Given the description of an element on the screen output the (x, y) to click on. 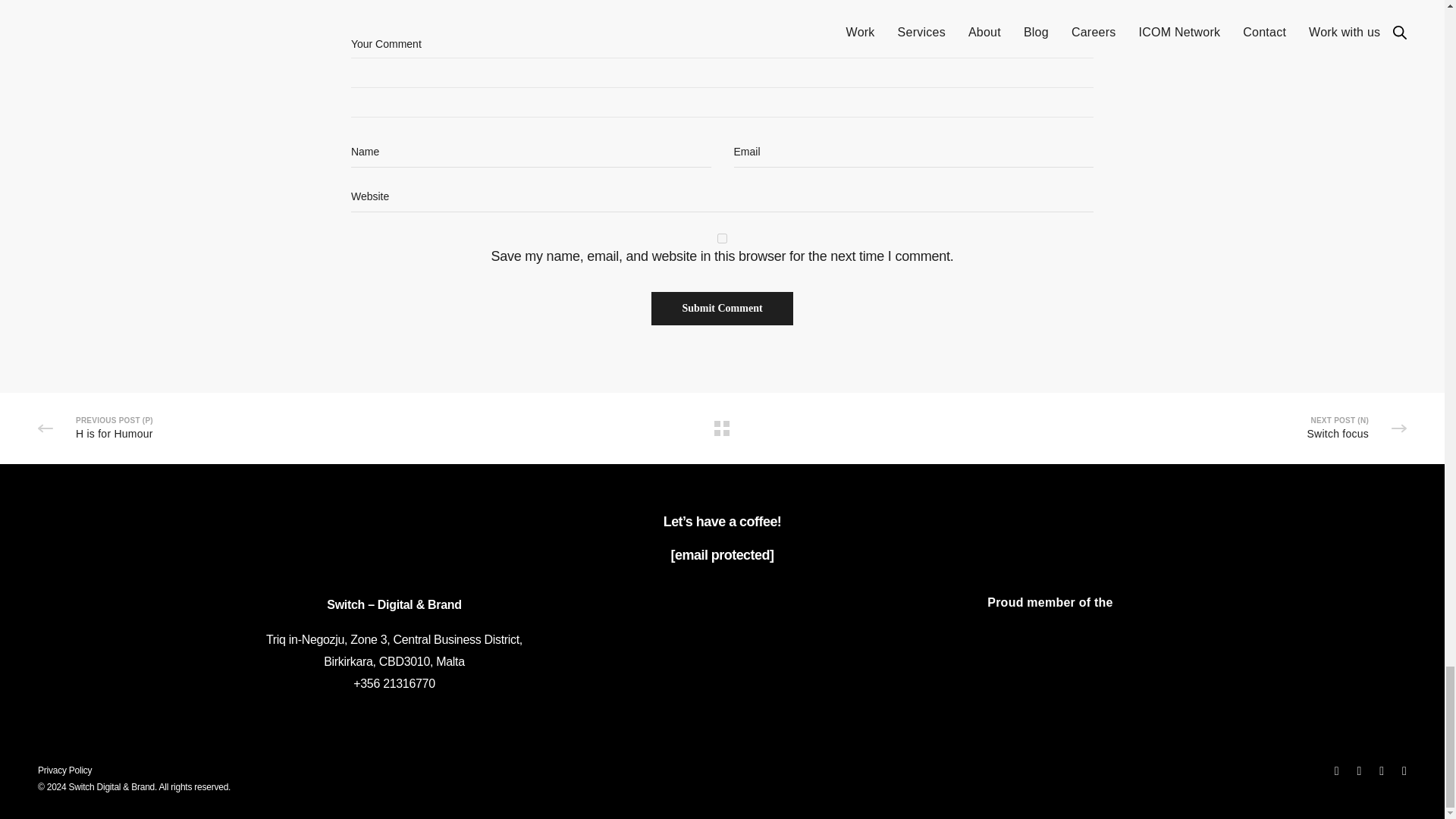
yes (721, 238)
Submit Comment (721, 308)
